Given the description of an element on the screen output the (x, y) to click on. 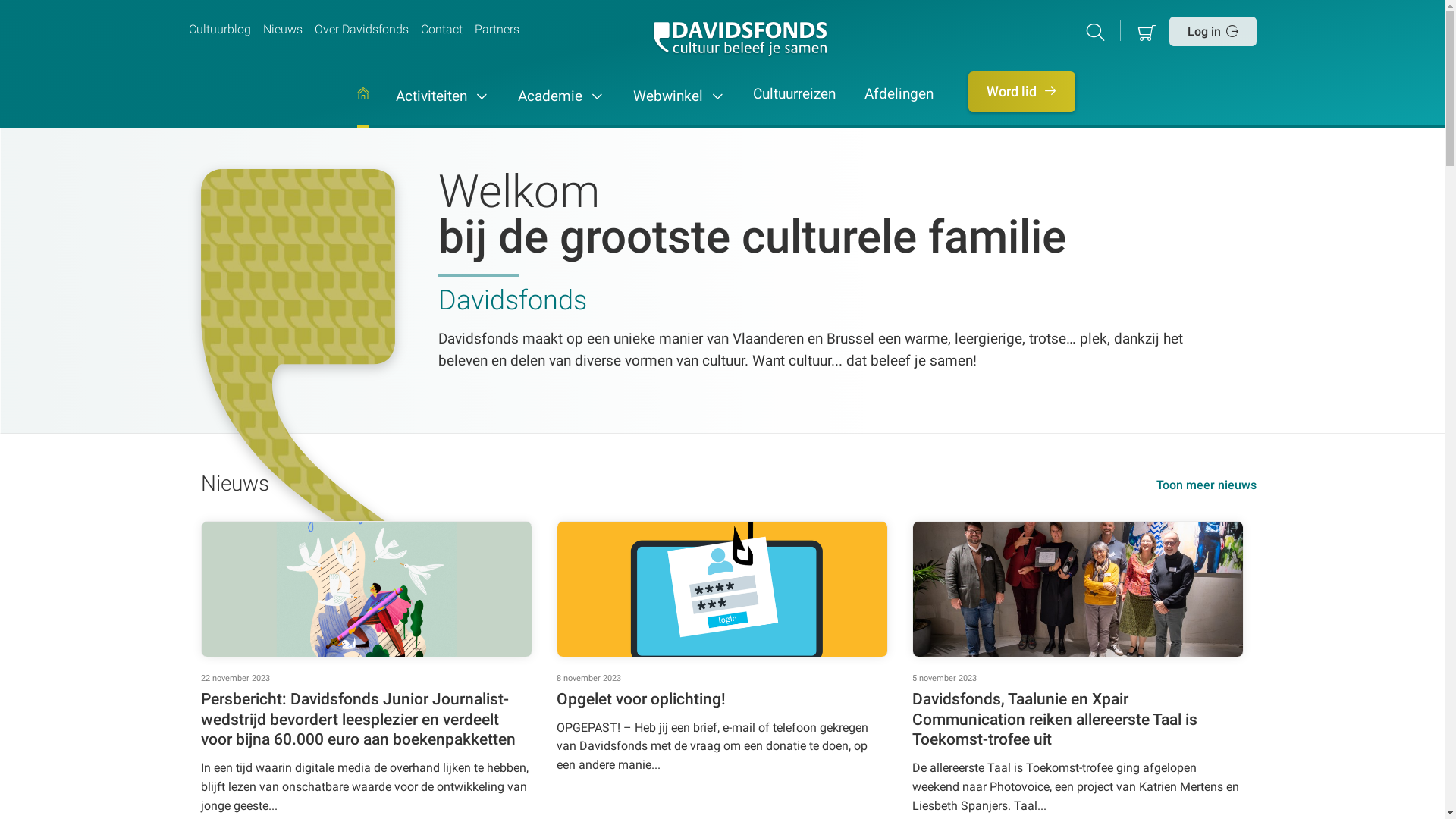
Afdelingen Element type: text (898, 107)
Academie Element type: text (561, 107)
Cultuurblog Element type: text (219, 30)
Cultuurreizen Element type: text (794, 107)
Toon meer nieuws Element type: text (1205, 485)
Hoofdpagina Element type: text (363, 107)
Activiteiten Element type: text (442, 107)
Log in Element type: text (1212, 30)
Webwinkel Element type: text (678, 107)
Nieuws Element type: text (281, 30)
Zoeken Element type: text (1097, 31)
Over Davidsfonds Element type: text (360, 30)
Contact Element type: text (440, 30)
Partners Element type: text (496, 30)
Word lid Element type: text (1021, 91)
Betalen Element type: text (1146, 31)
